Given the description of an element on the screen output the (x, y) to click on. 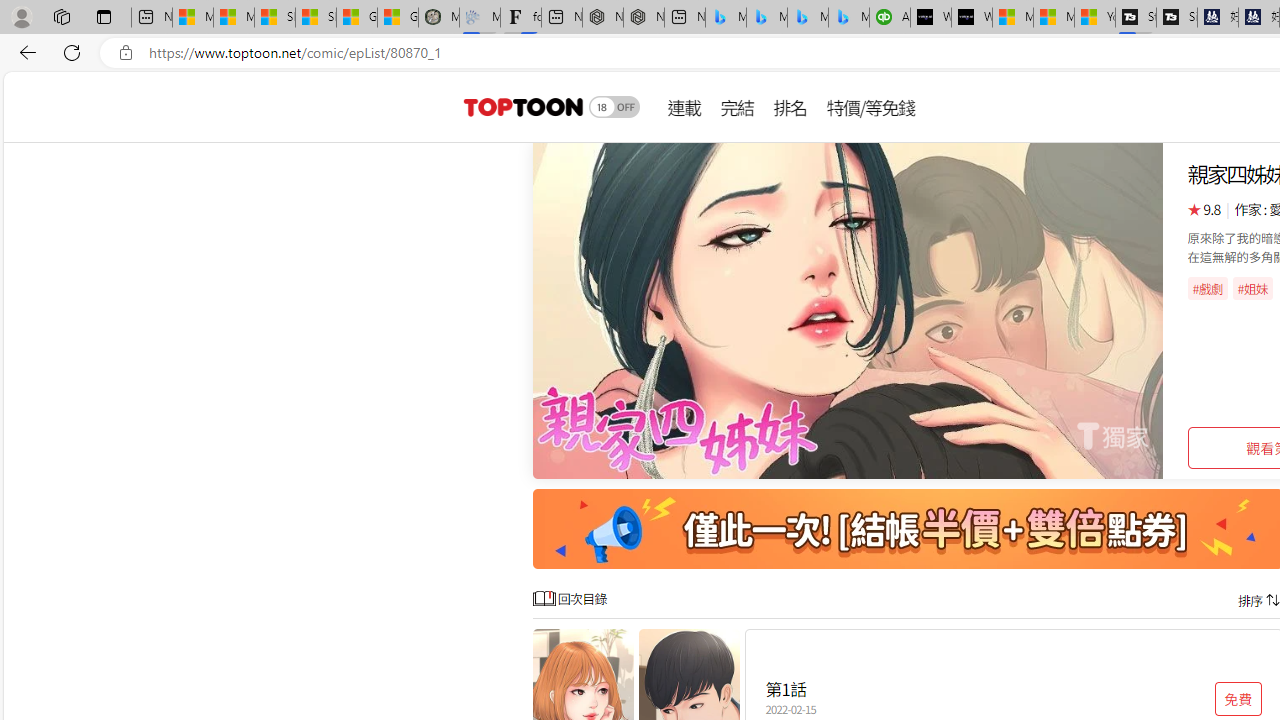
Manatee Mortality Statistics | FWC (438, 17)
View site information (125, 53)
Shanghai, China weather forecast | Microsoft Weather (315, 17)
Microsoft Start (1053, 17)
